Given the description of an element on the screen output the (x, y) to click on. 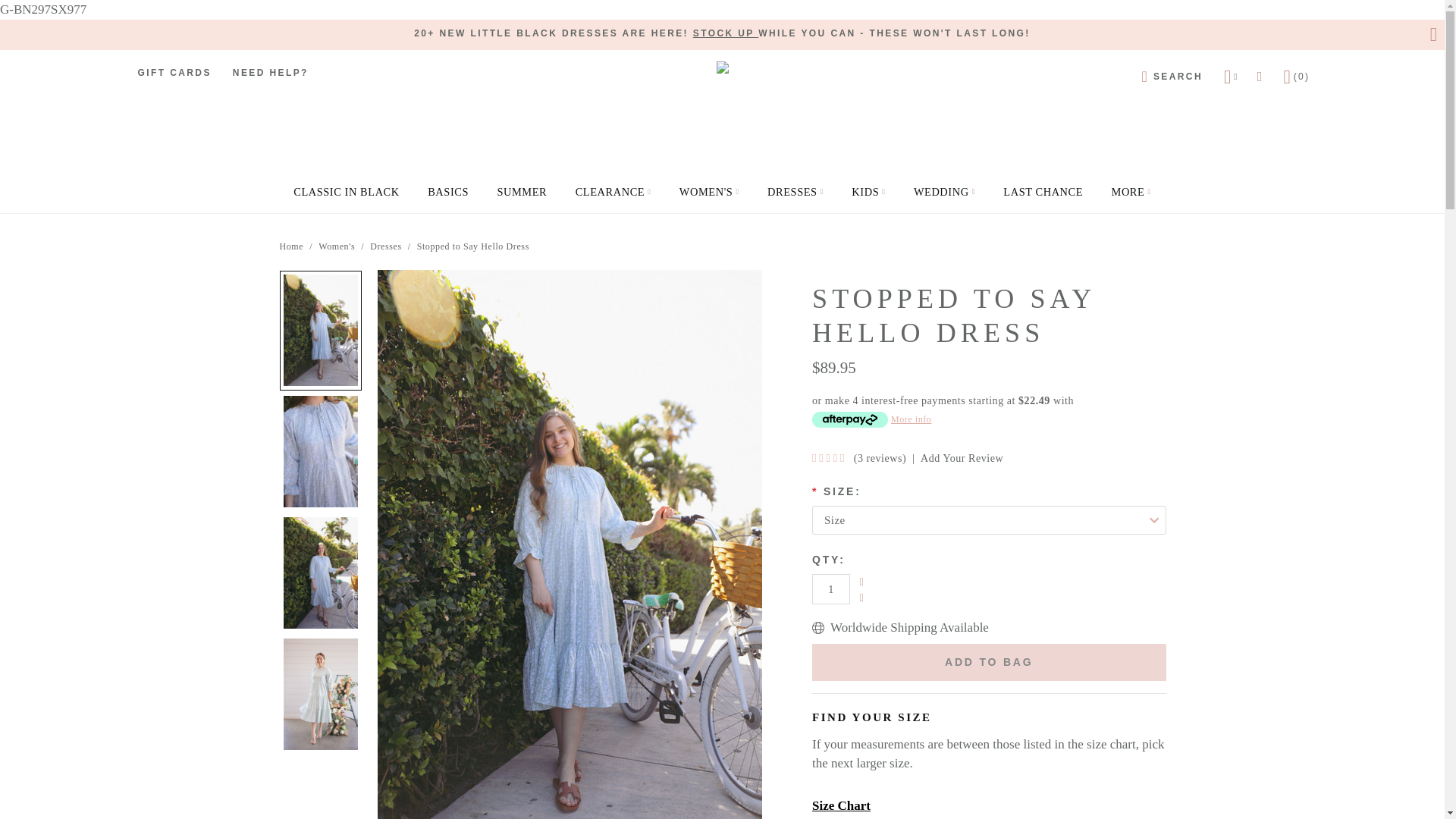
SUMMER (521, 190)
CLEARANCE (613, 190)
View Size Chart (841, 805)
CLASSIC IN BLACK (346, 190)
WOMEN'S (708, 190)
DRESSES (794, 190)
STOCK UP (725, 32)
1 (831, 589)
BASICS (447, 190)
